Given the description of an element on the screen output the (x, y) to click on. 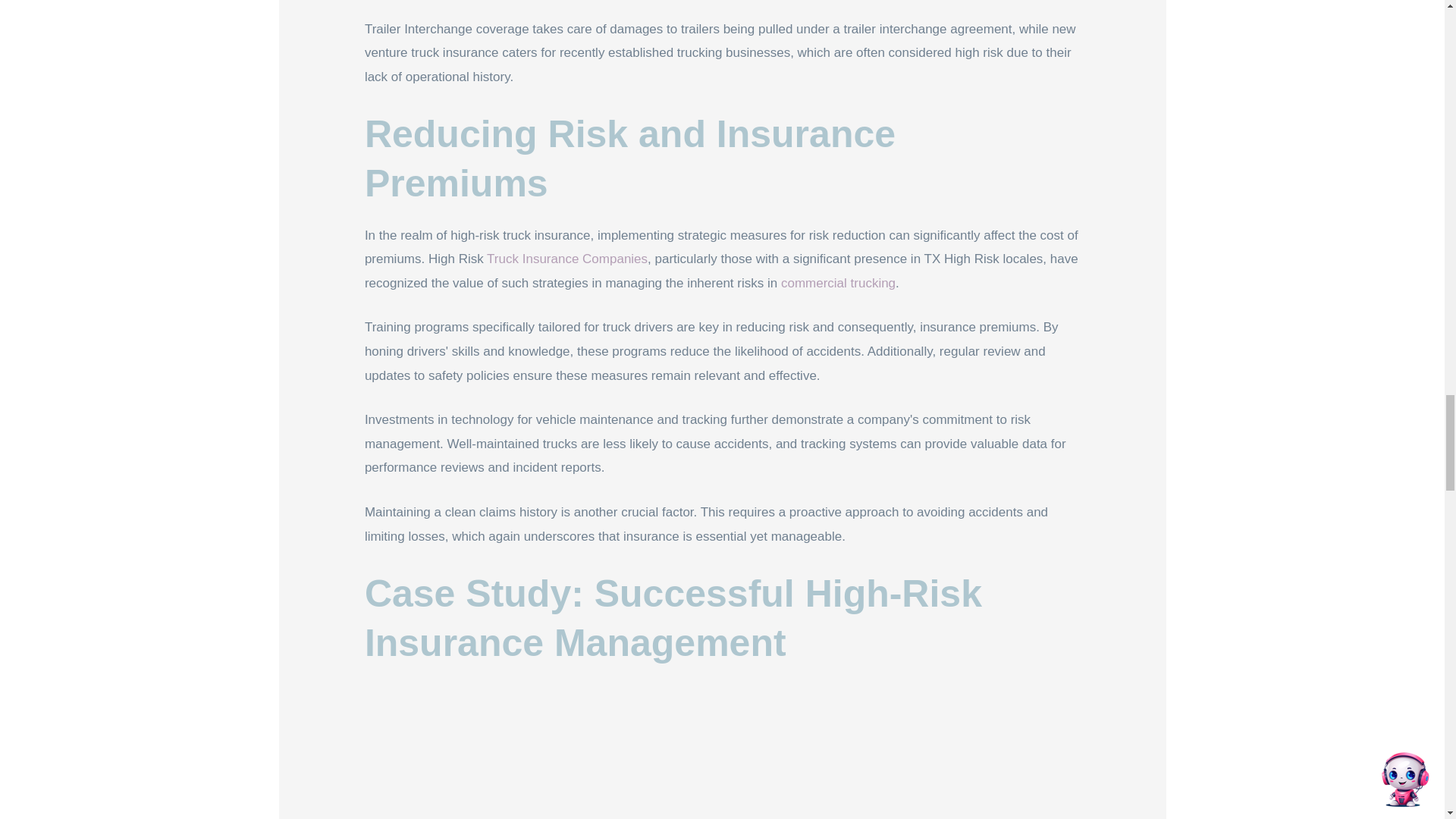
Truck Insurance Companies (566, 258)
commercial trucking (837, 283)
Commercial Trucking (837, 283)
Truck Insurance Companies (566, 258)
